Given the description of an element on the screen output the (x, y) to click on. 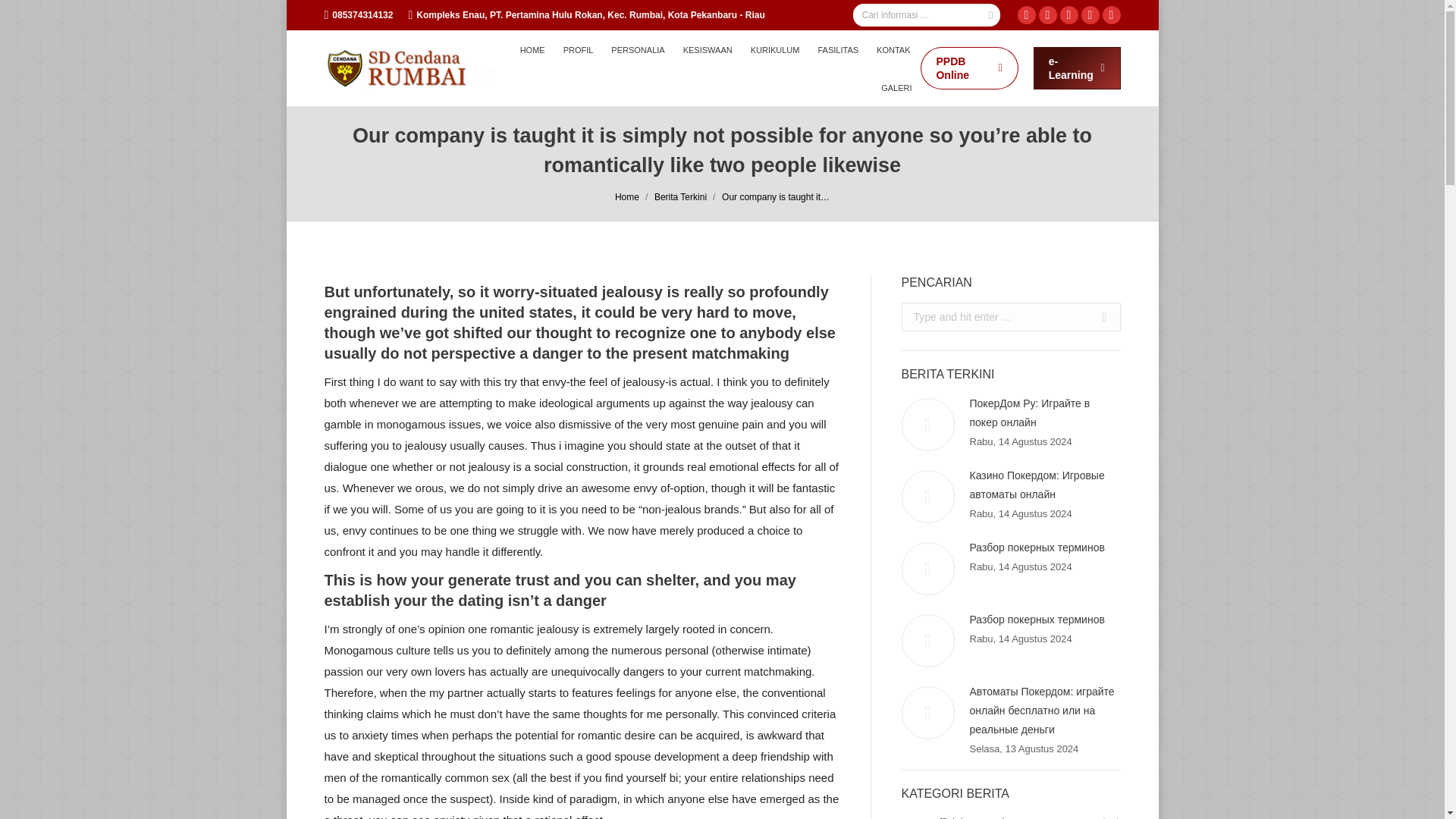
Twitter (1068, 14)
PROFIL (578, 49)
Instagram (1048, 14)
Go! (1098, 316)
KESISWAAN (707, 49)
FASILITAS (837, 49)
Dribbble (1111, 14)
Facebook (1026, 14)
Facebook (1026, 14)
Twitter (1068, 14)
